Given the description of an element on the screen output the (x, y) to click on. 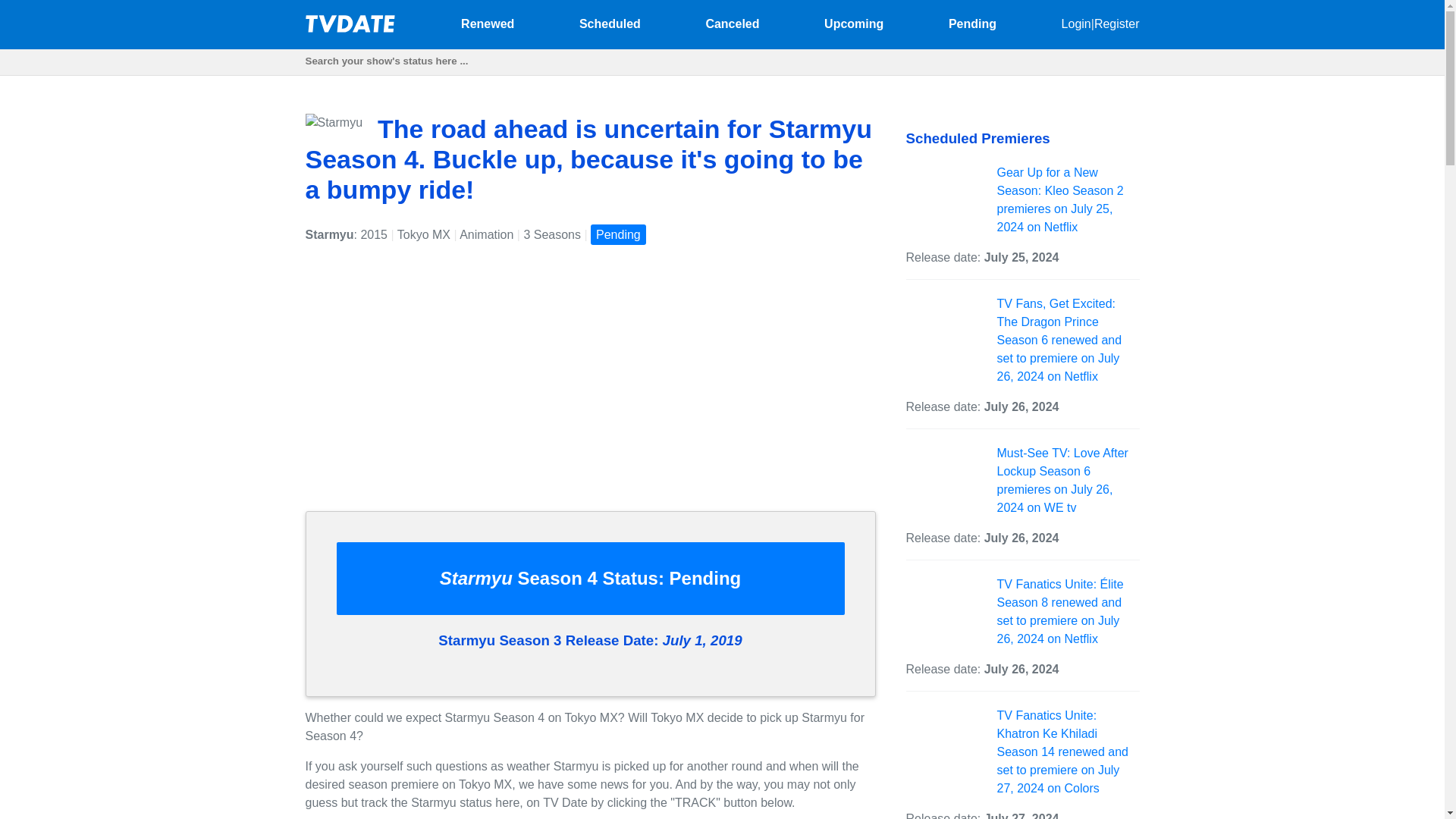
Renewed (487, 23)
Upcoming (853, 23)
Scheduled (609, 23)
Canceled (731, 23)
Register (1117, 23)
Login (1075, 23)
Pending (972, 23)
